Given the description of an element on the screen output the (x, y) to click on. 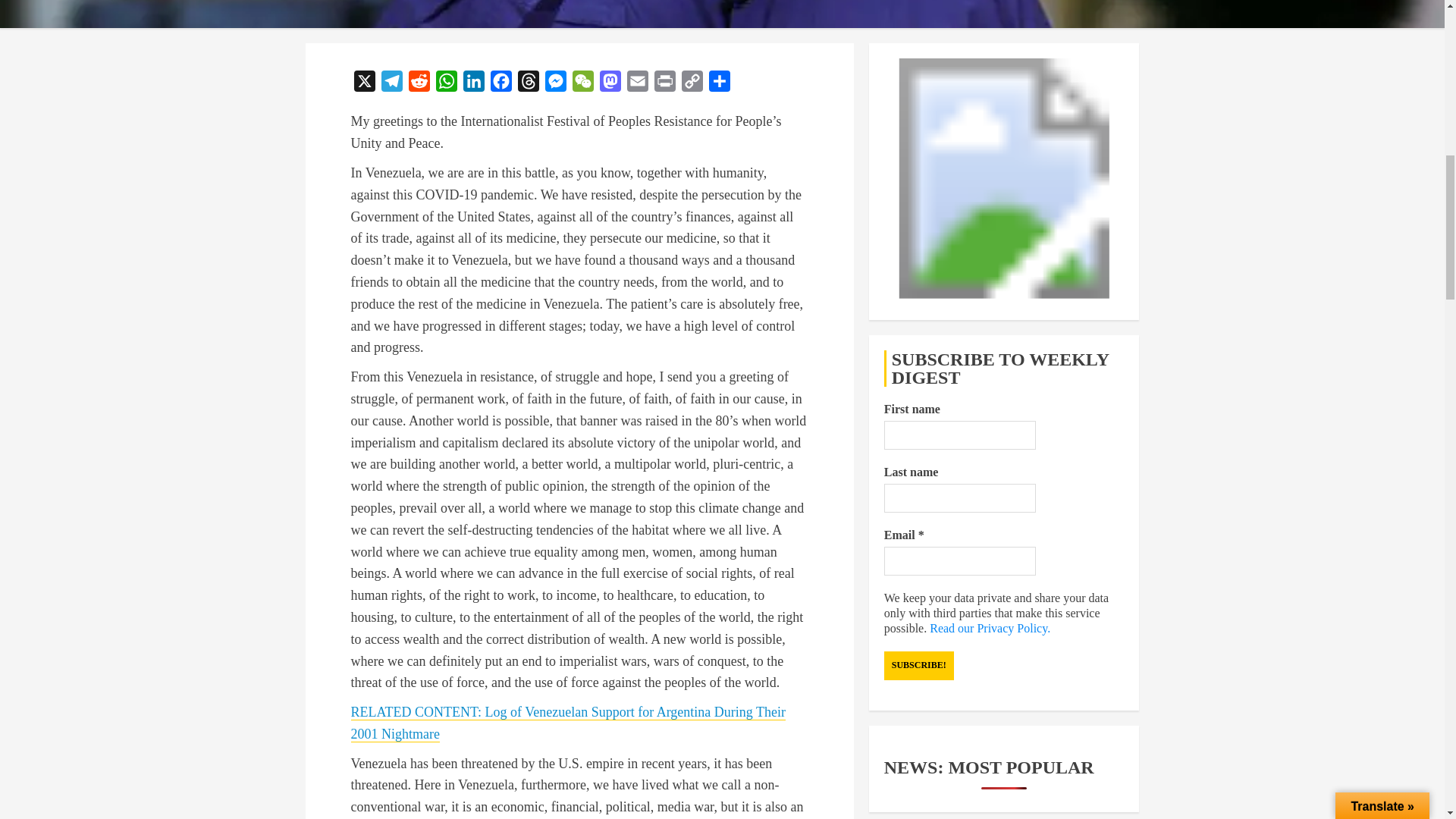
LinkedIn (473, 84)
Email (636, 84)
Threads (527, 84)
Telegram (390, 84)
X (363, 84)
Print (664, 84)
Reddit (418, 84)
WeChat (582, 84)
WhatsApp (446, 84)
Messenger (555, 84)
